Given the description of an element on the screen output the (x, y) to click on. 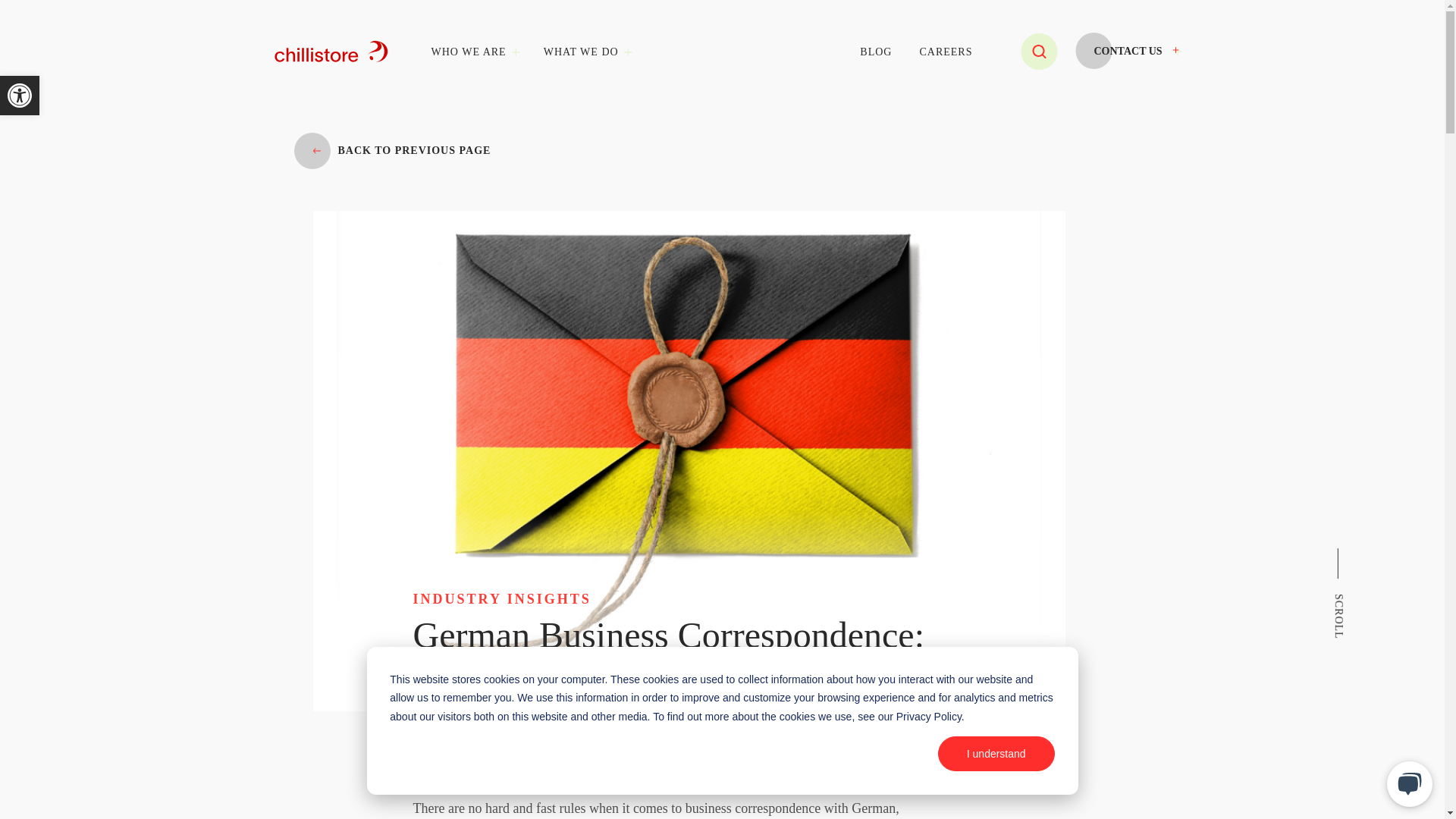
WHO WE ARE (467, 51)
Accessibility Tools (19, 95)
WHAT WE DO (580, 51)
CAREERS (945, 51)
Accessibility Tools (19, 95)
BLOG (19, 95)
SCROLL (875, 51)
CONTACT US (1377, 553)
